Given the description of an element on the screen output the (x, y) to click on. 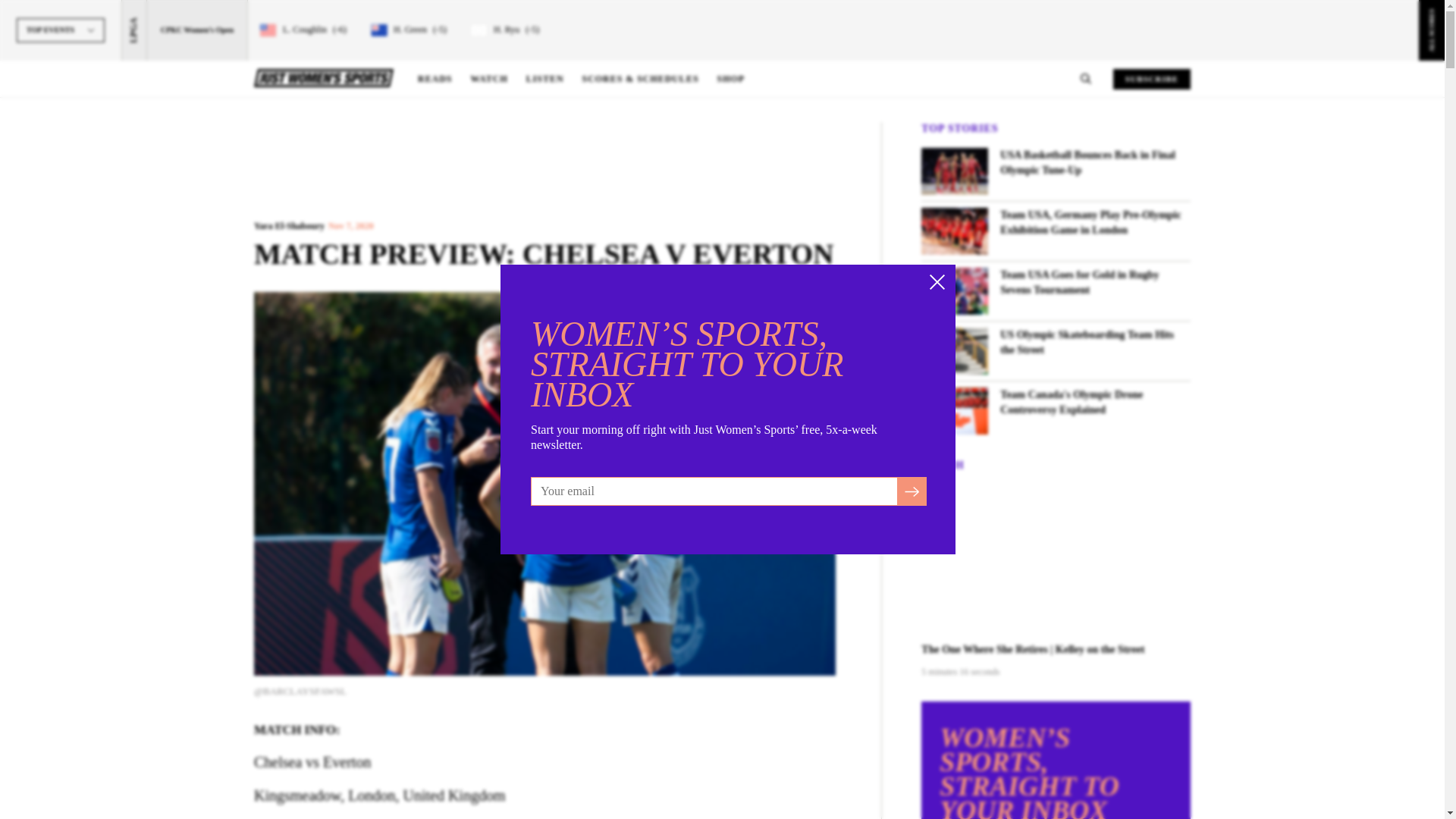
READS (435, 78)
YouTube video player (1056, 560)
3rd party ad content (544, 156)
LISTEN (544, 78)
TOP EVENTS (60, 52)
SUBSCRIBE (1152, 77)
SHOP (730, 78)
WATCH (488, 78)
